Given the description of an element on the screen output the (x, y) to click on. 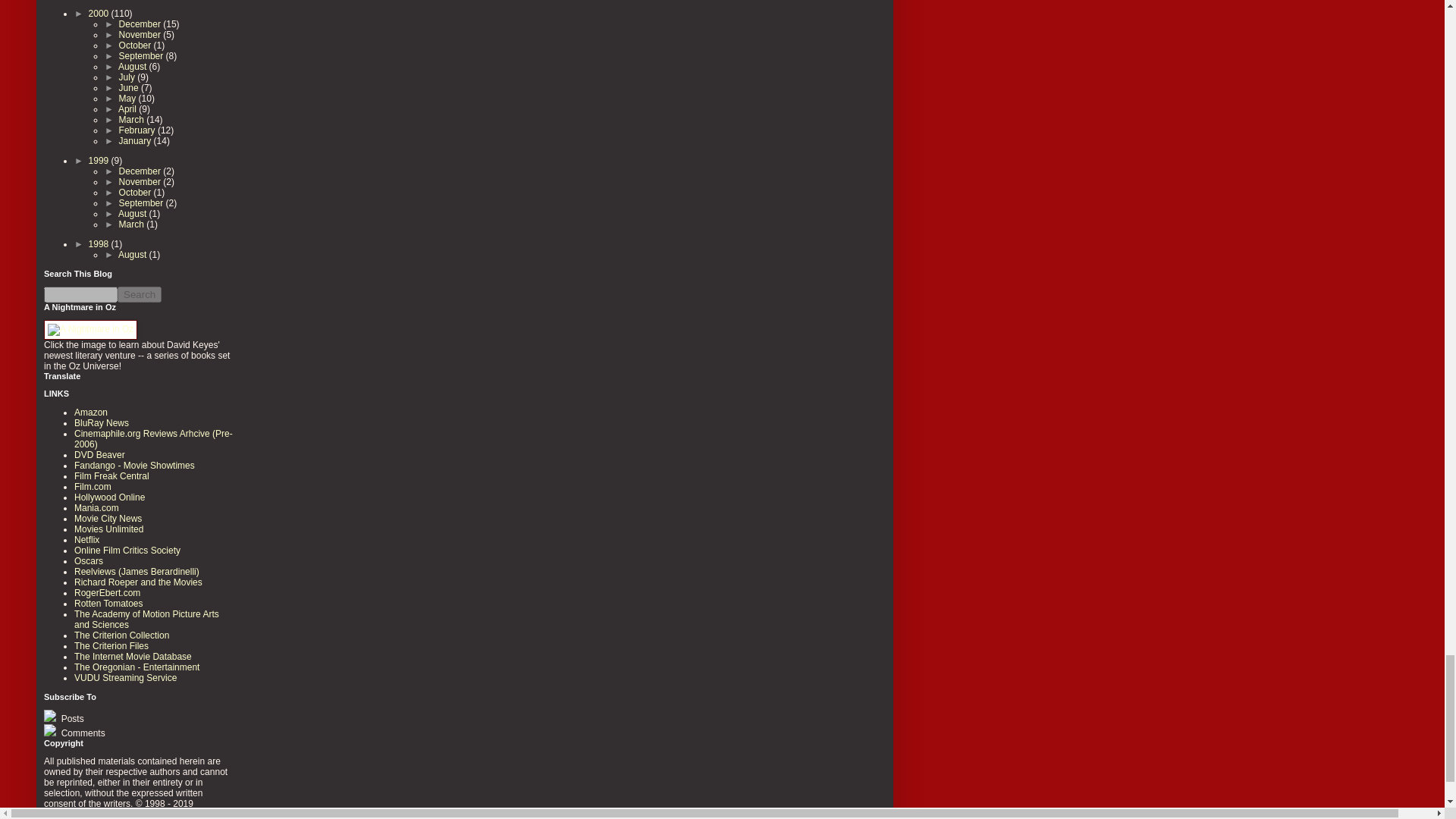
search (139, 294)
search (80, 294)
Search (139, 294)
Search (139, 294)
